Given the description of an element on the screen output the (x, y) to click on. 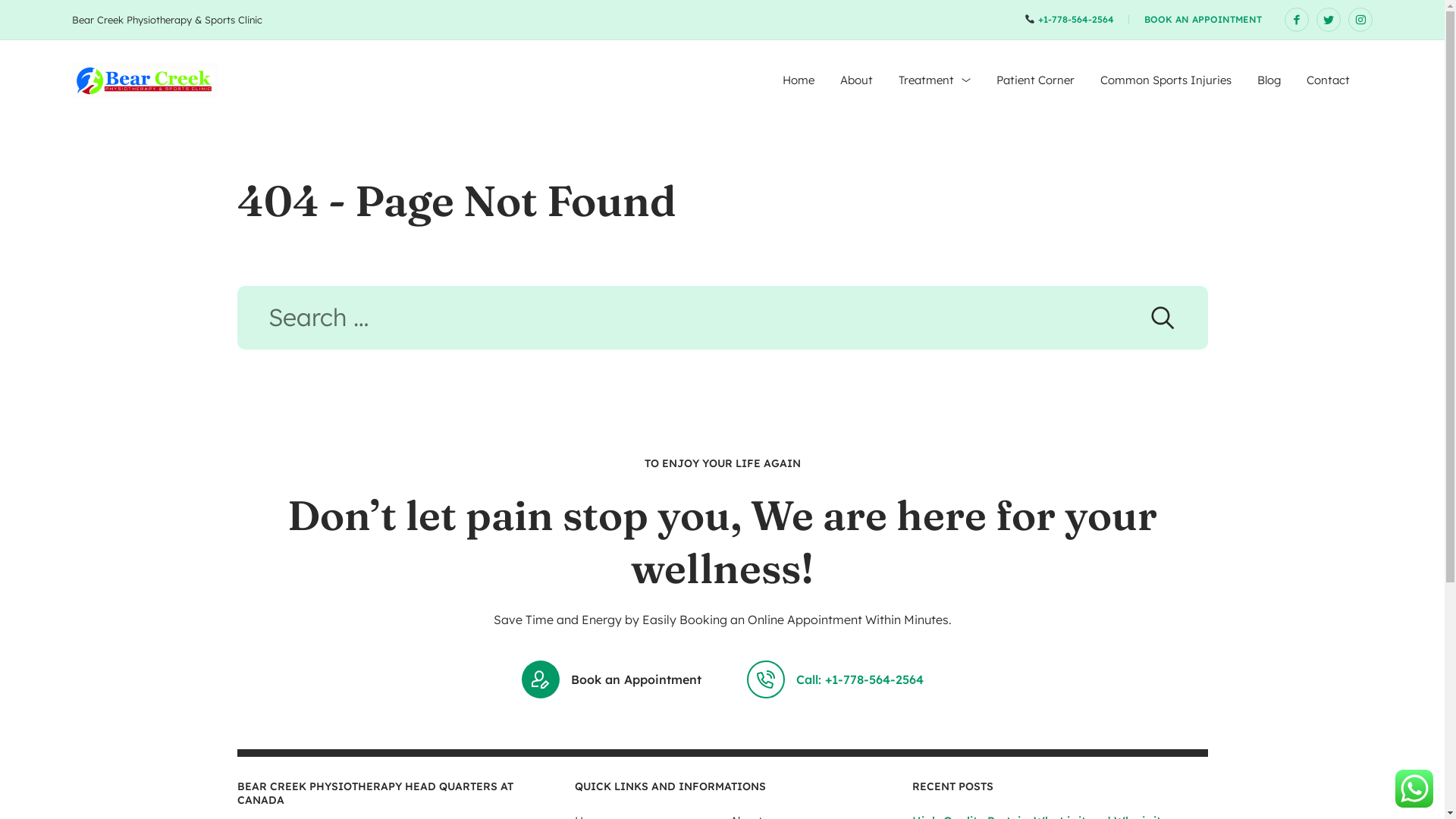
BOOK AN APPOINTMENT Element type: text (1202, 19)
Home Element type: text (798, 79)
Contact Element type: text (1327, 79)
Call: +1-778-564-2564 Element type: text (834, 679)
Search Element type: text (1161, 317)
+1-778-564-2564 Element type: text (1068, 19)
Blog Element type: text (1268, 79)
Patient Corner Element type: text (1035, 79)
Common Sports Injuries Element type: text (1165, 79)
Treatment Element type: text (934, 79)
About Element type: text (856, 79)
Book an Appointment Element type: text (611, 679)
